Given the description of an element on the screen output the (x, y) to click on. 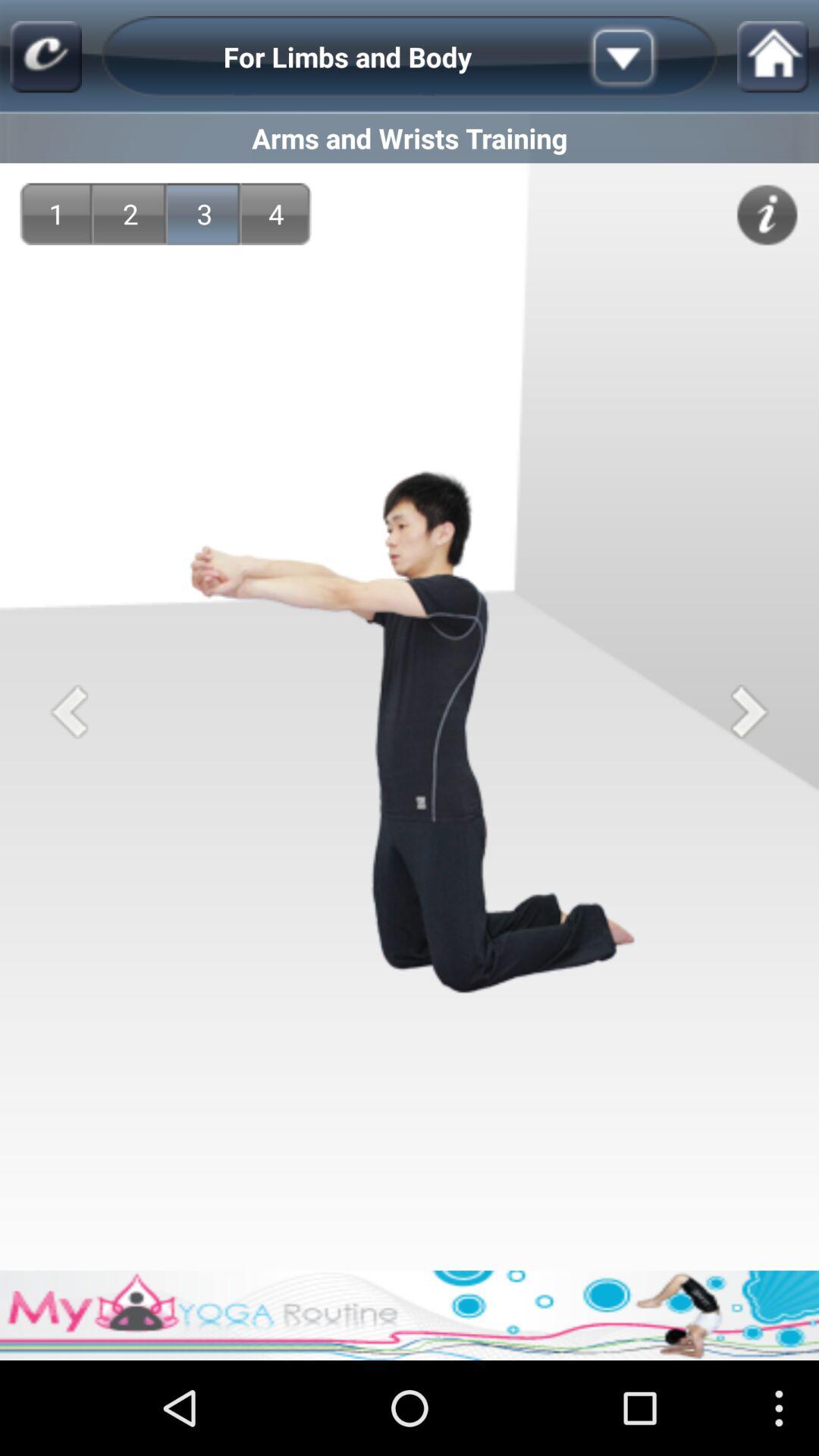
tap the icon below arms and wrists icon (130, 214)
